Given the description of an element on the screen output the (x, y) to click on. 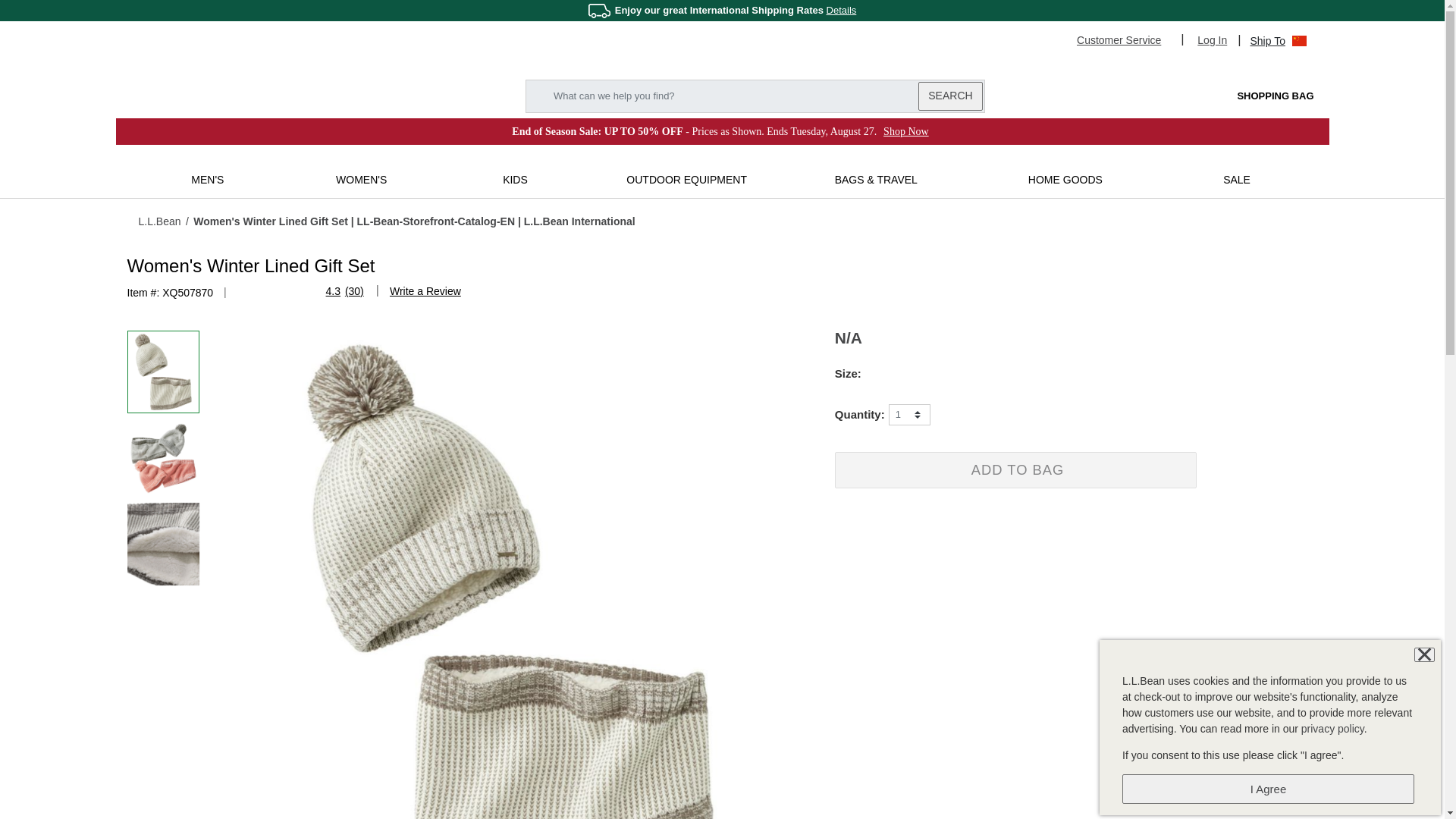
Customer Service (1125, 39)
MEN'S (207, 179)
SHOPPING BAG (1260, 95)
SEARCH (949, 95)
Shop Now (905, 131)
Details (842, 9)
Shop Now (905, 131)
Cart 0 Items (1260, 95)
L.L.Bean Home Page L.L.Bean (221, 94)
Log In (1211, 39)
